Given the description of an element on the screen output the (x, y) to click on. 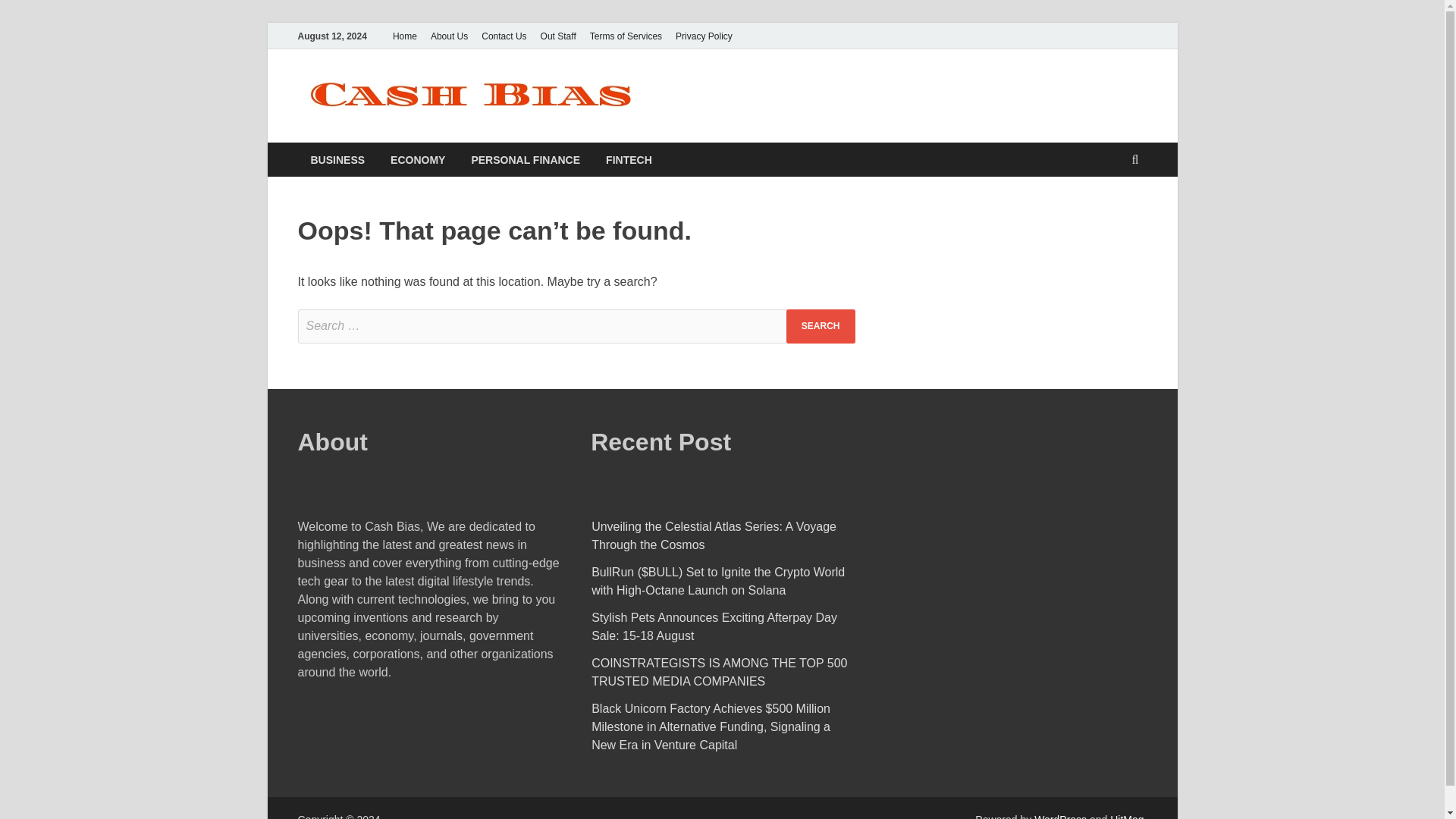
Home (404, 35)
COINSTRATEGISTS IS AMONG THE TOP 500 TRUSTED MEDIA COMPANIES (719, 671)
Search (821, 326)
About Us (448, 35)
Privacy Policy (703, 35)
Search (821, 326)
FINTECH (628, 159)
PERSONAL FINANCE (525, 159)
